Given the description of an element on the screen output the (x, y) to click on. 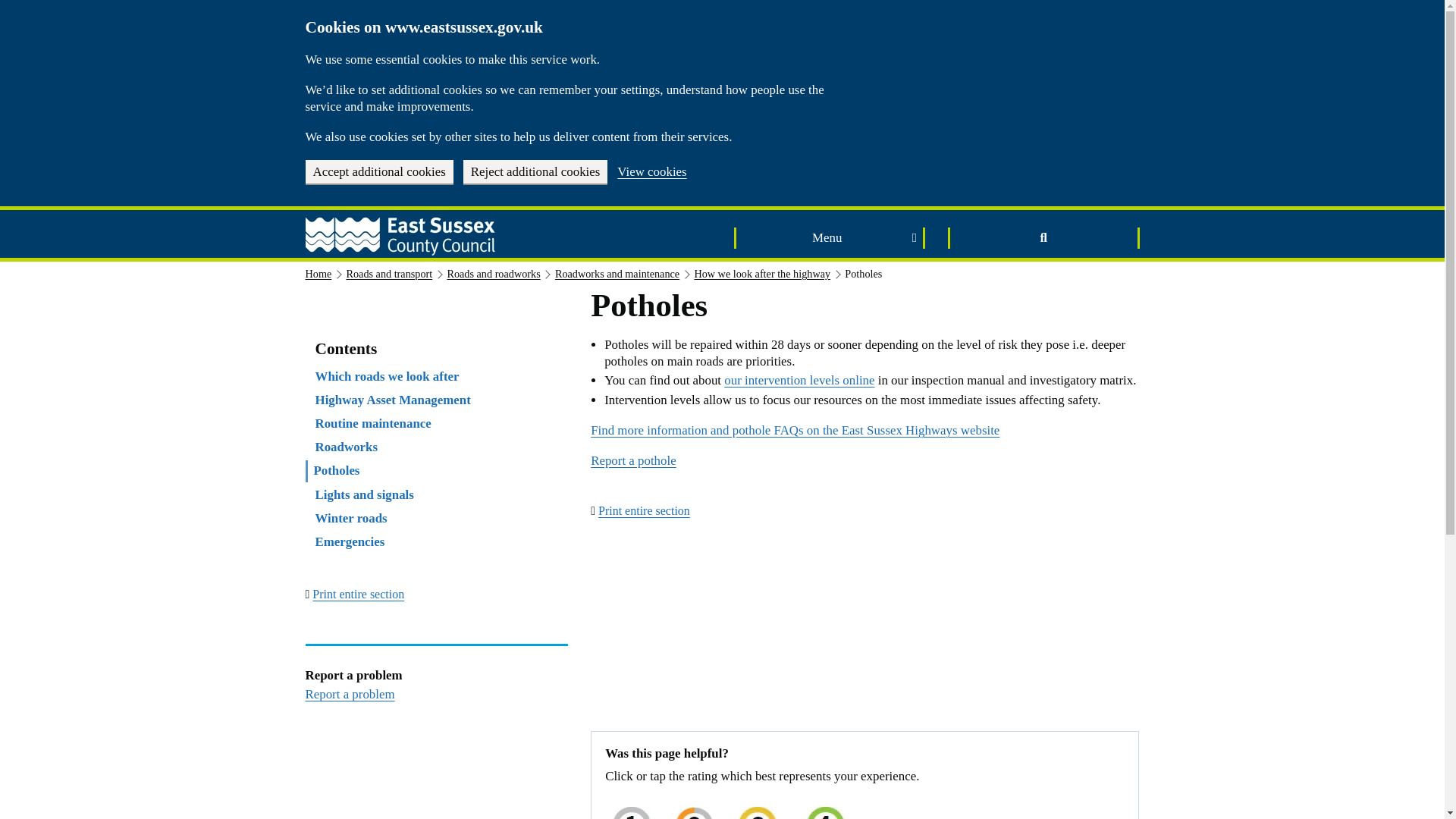
Excellent (825, 808)
Reject additional cookies (535, 171)
Print entire section (358, 594)
Emergencies (350, 541)
Report a pothole (633, 460)
Good (757, 808)
Poor (631, 808)
Which roads we look after (387, 375)
Lights and signals (364, 494)
Roads and transport (389, 273)
Report a problem (349, 694)
Winter roads (351, 518)
Menu (829, 237)
Skip to main content (10, 6)
